Given the description of an element on the screen output the (x, y) to click on. 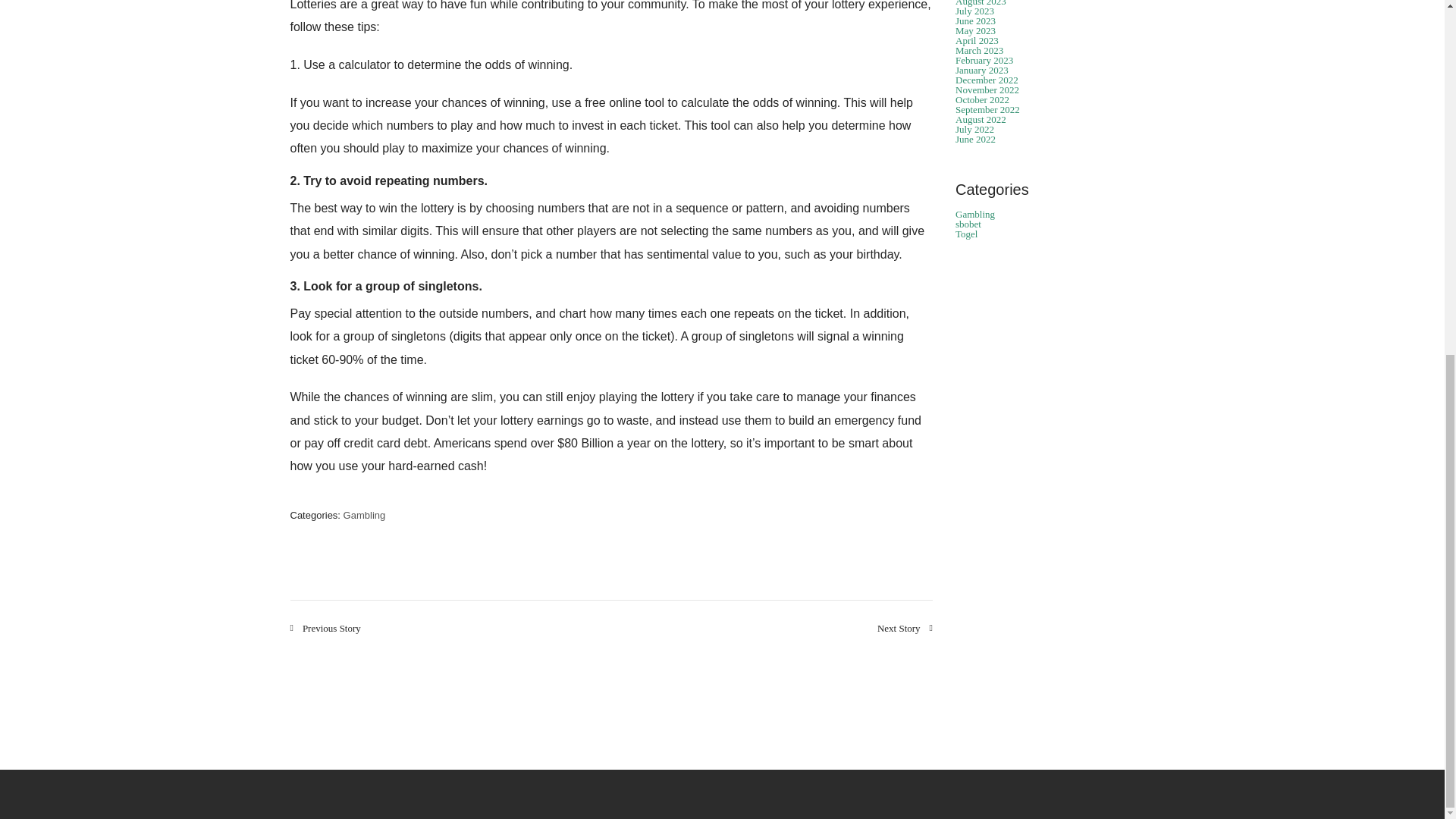
October 2022 (982, 99)
March 2023 (979, 50)
January 2023 (982, 70)
May 2023 (975, 30)
September 2022 (987, 109)
June 2023 (975, 20)
August 2023 (980, 3)
July 2023 (974, 10)
November 2022 (987, 89)
Next Story (905, 628)
